Given the description of an element on the screen output the (x, y) to click on. 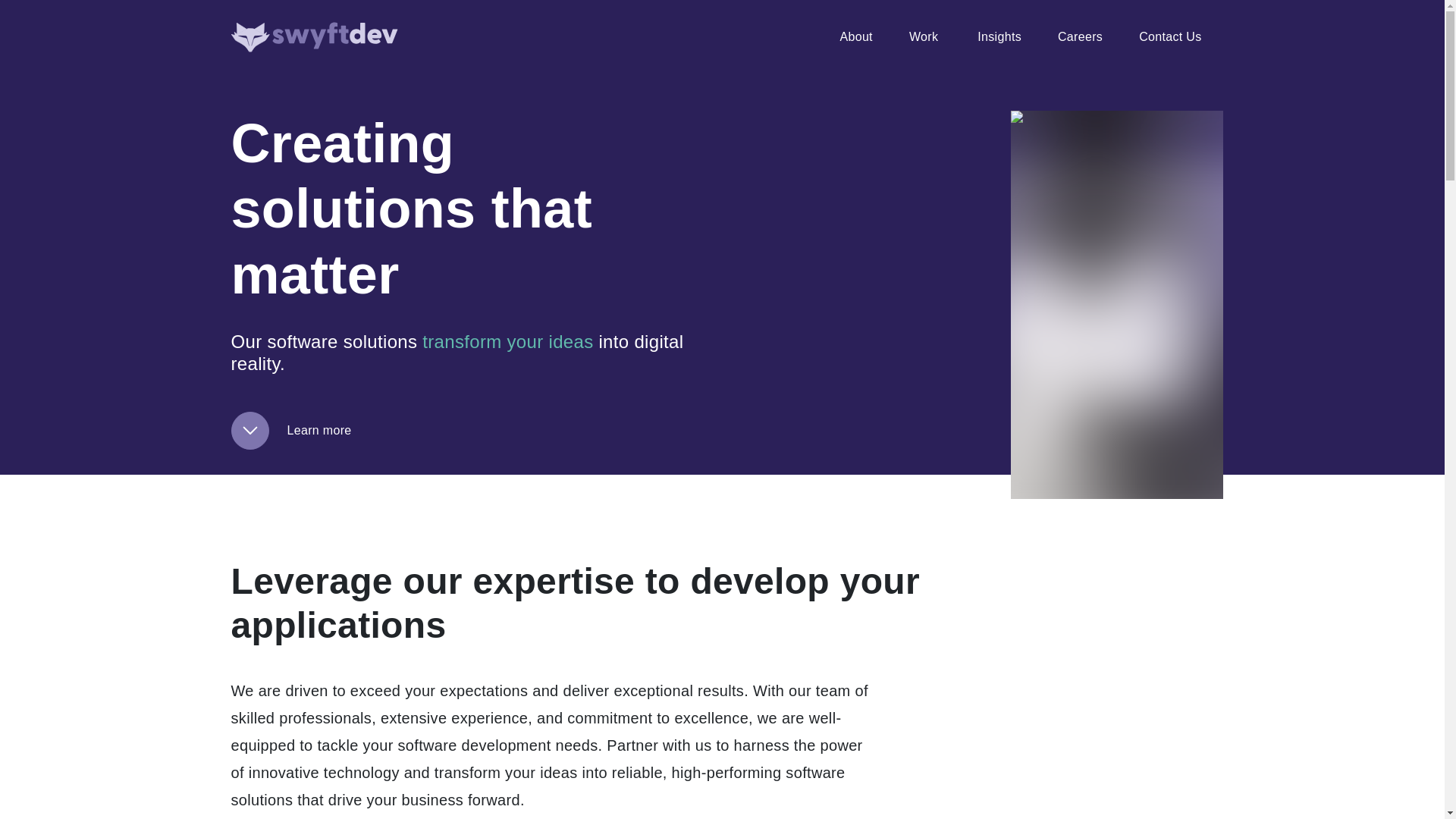
About (855, 37)
Contact Us (1161, 37)
Insights (999, 37)
Work (925, 37)
Careers (1080, 37)
